Given the description of an element on the screen output the (x, y) to click on. 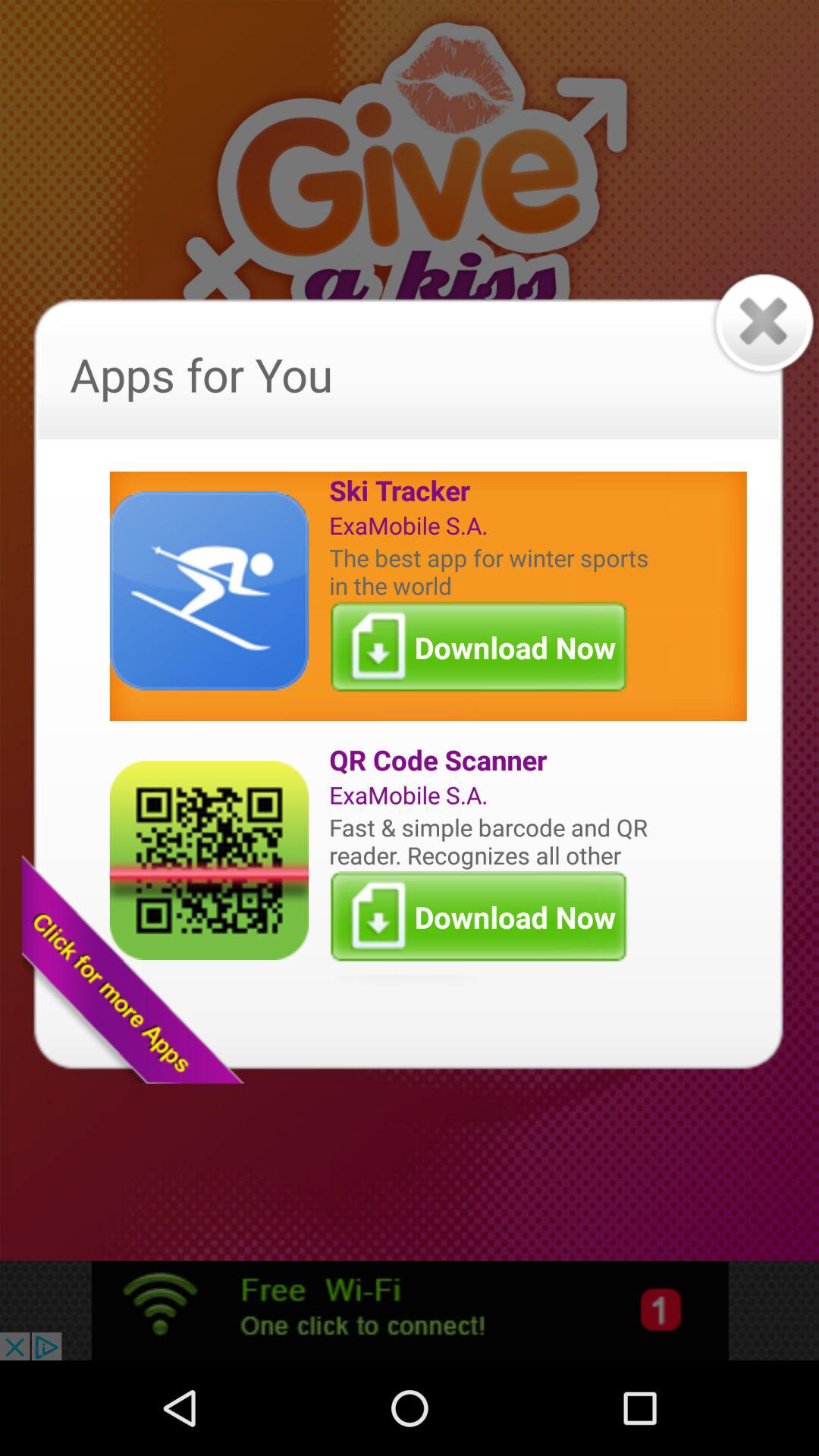
scroll to fast simple barcode icon (492, 841)
